Given the description of an element on the screen output the (x, y) to click on. 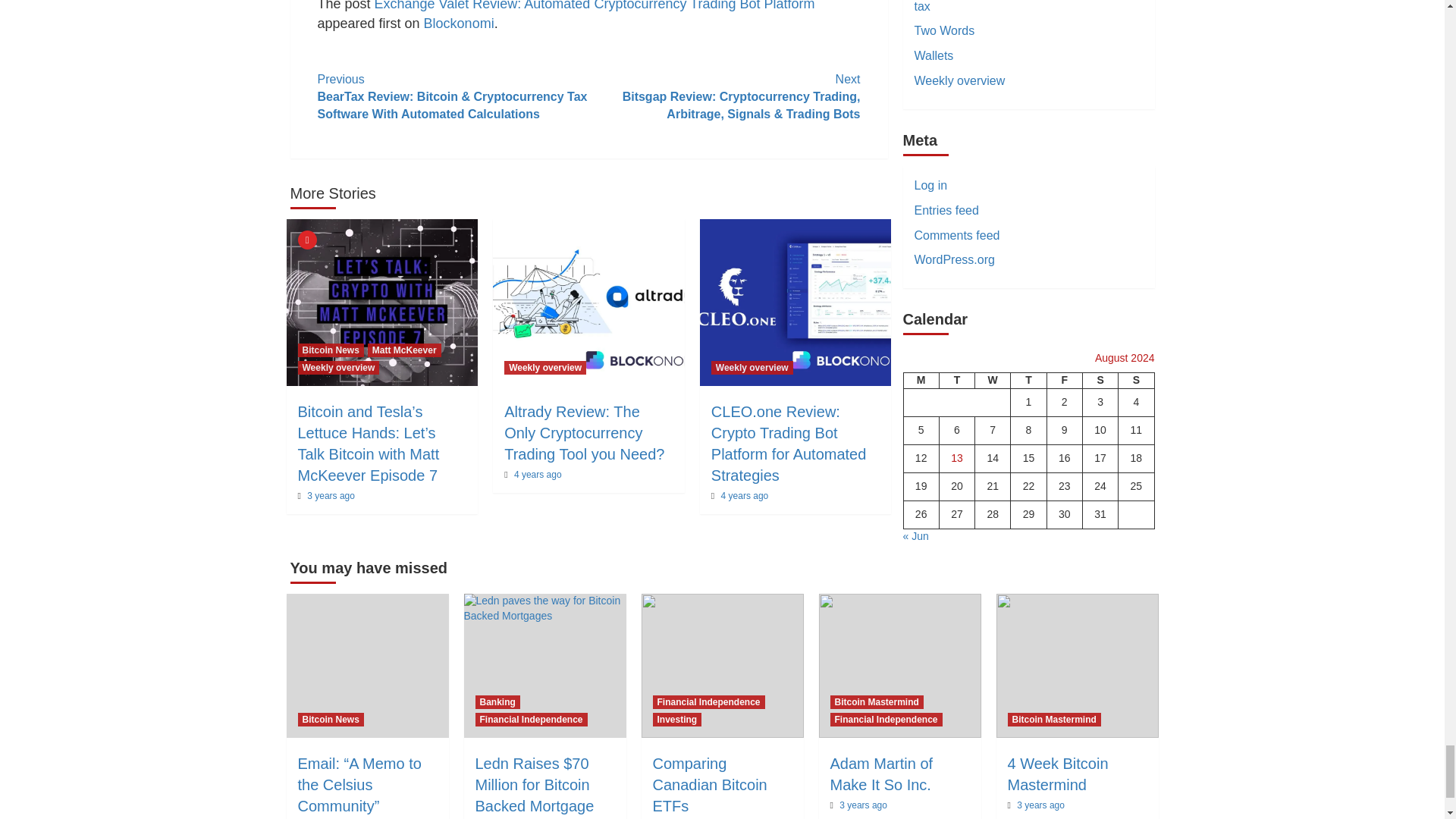
4 years ago (537, 474)
Blockonomi (459, 23)
Weekly overview (752, 367)
Weekly overview (544, 367)
4 years ago (744, 495)
3 years ago (331, 495)
Bitcoin News (329, 350)
